Given the description of an element on the screen output the (x, y) to click on. 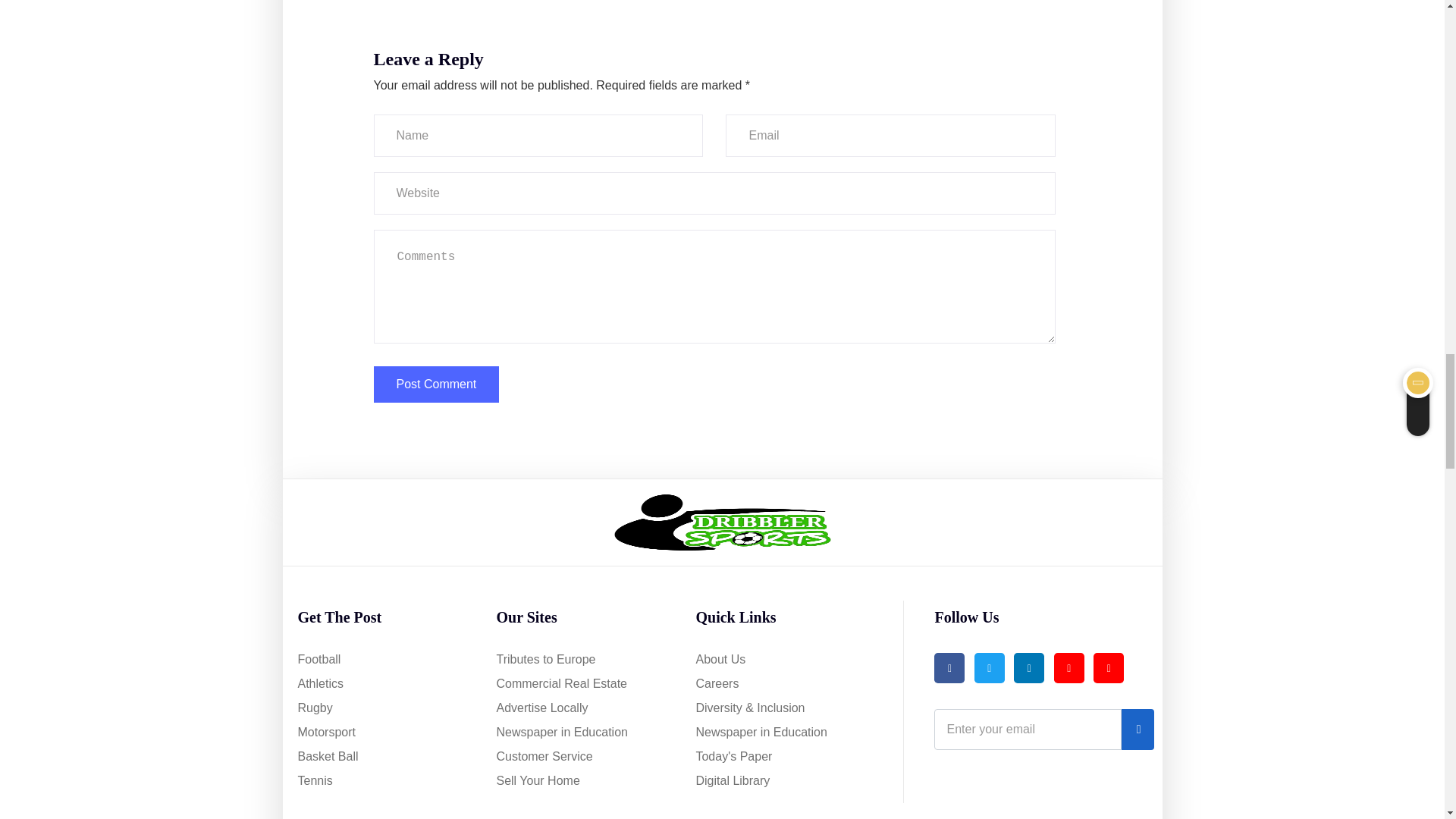
Post Comment (435, 384)
